Given the description of an element on the screen output the (x, y) to click on. 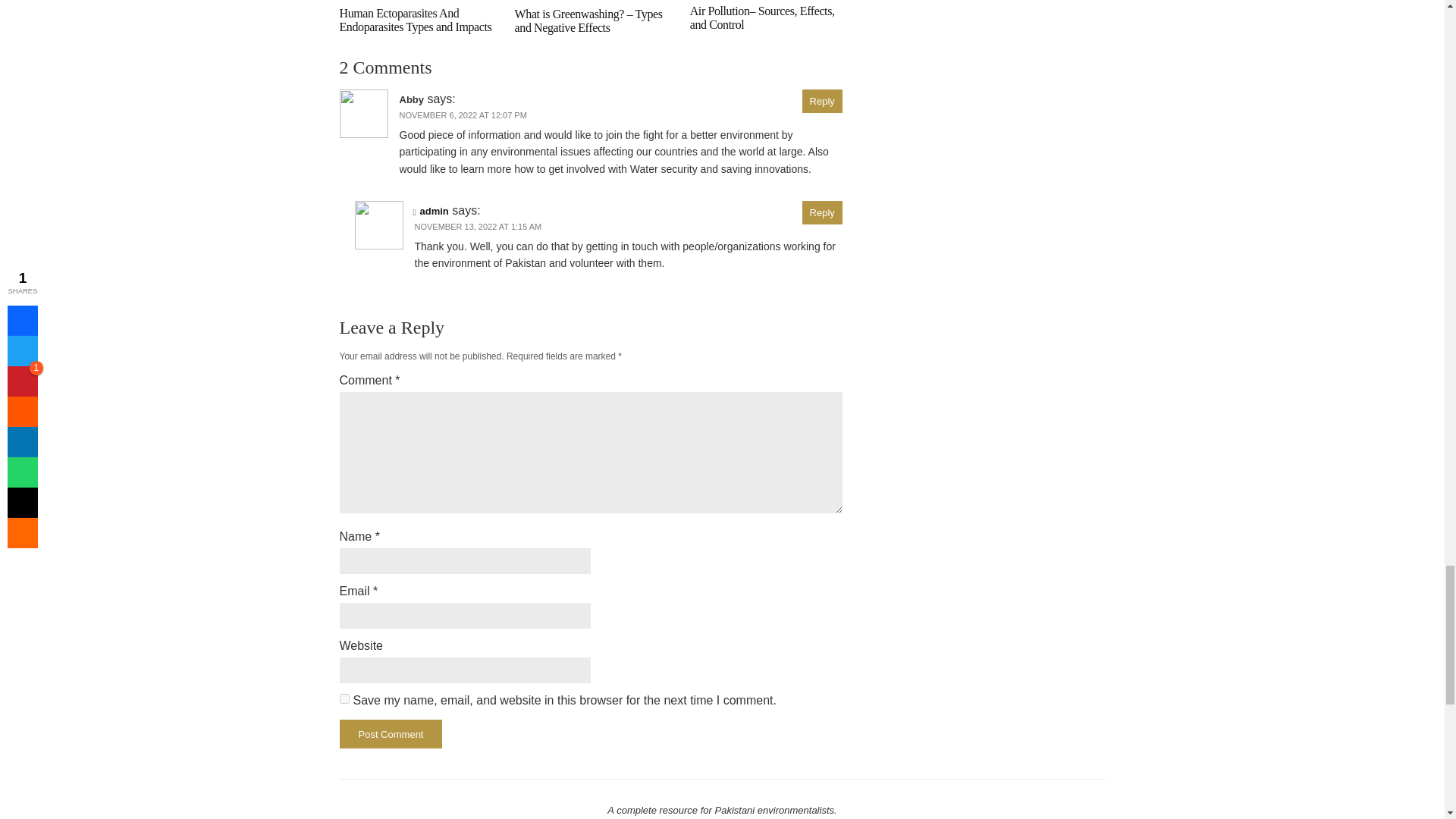
yes (344, 698)
Post Comment (390, 733)
